Given the description of an element on the screen output the (x, y) to click on. 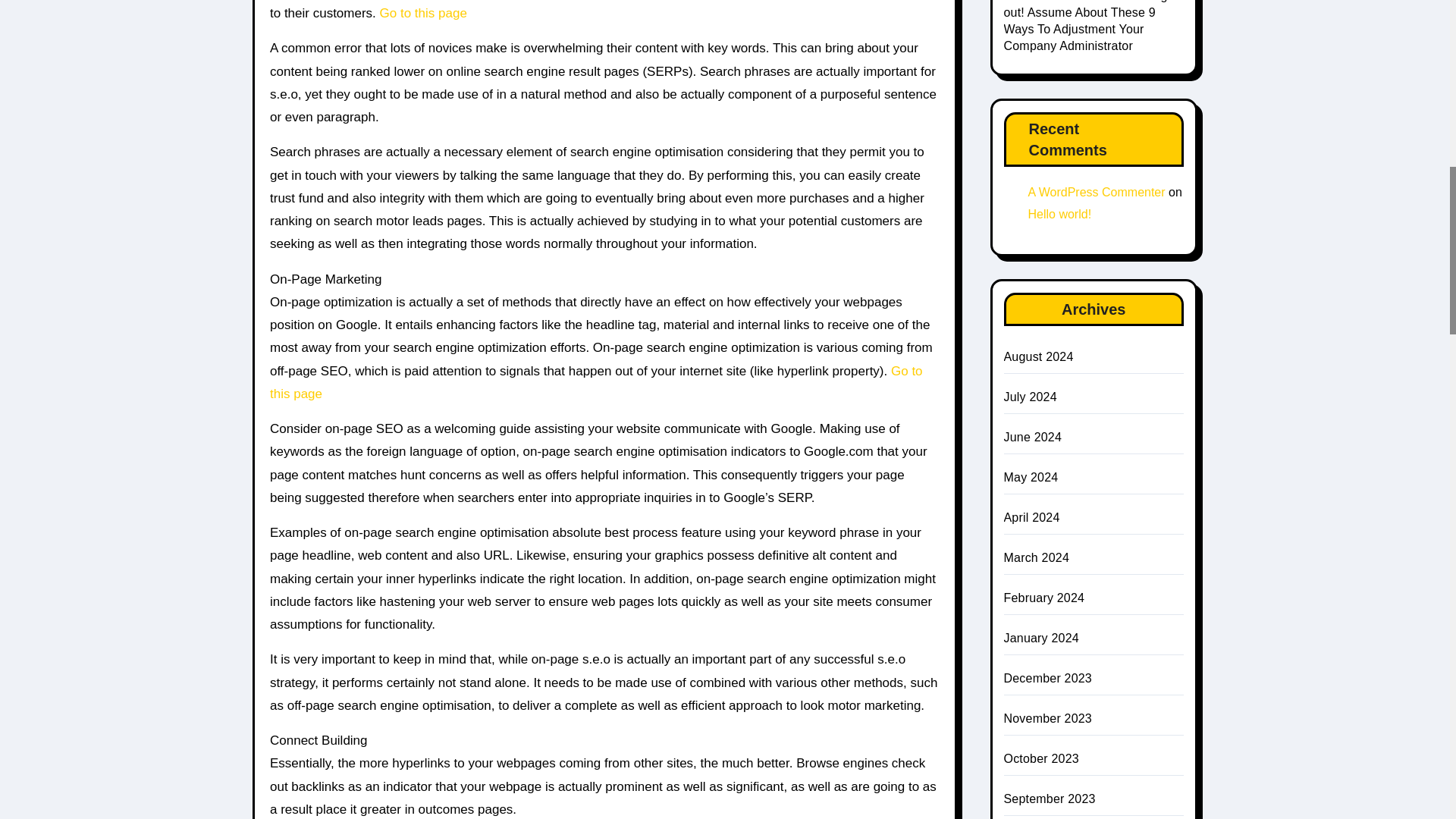
Go to this page (423, 12)
Go to this page (596, 382)
